Given the description of an element on the screen output the (x, y) to click on. 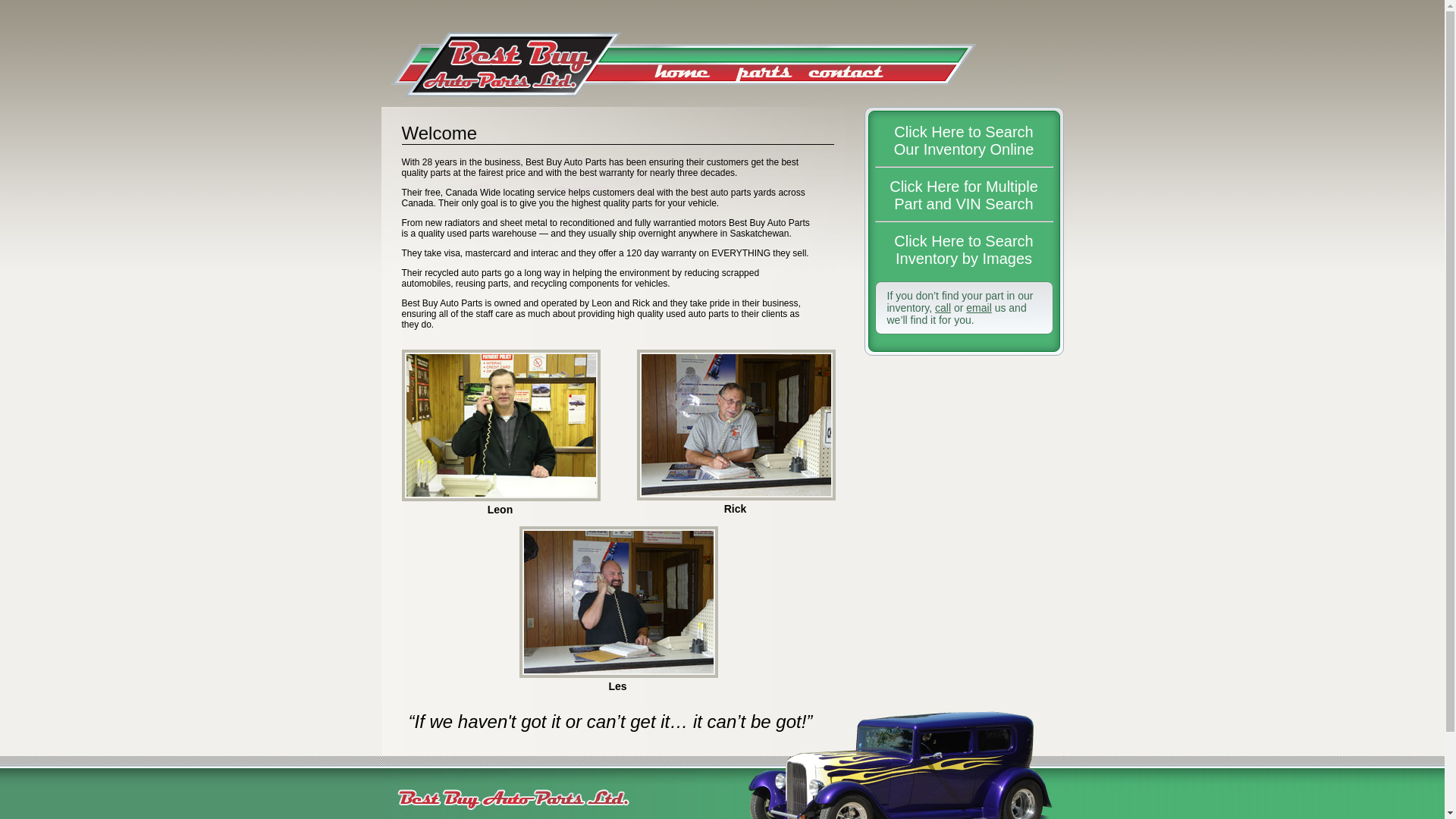
Contact Element type: text (844, 72)
Click Here for Multiple Part and VIN Search Element type: text (963, 195)
Click Here to Search
Our Inventory Online Element type: text (964, 140)
Parts Element type: text (762, 72)
Best Buy Auto Parts Element type: text (515, 64)
email Element type: text (978, 307)
call Element type: text (942, 307)
Home Element type: text (679, 72)
Click Here to Search Inventory by Images Element type: text (963, 249)
